Given the description of an element on the screen output the (x, y) to click on. 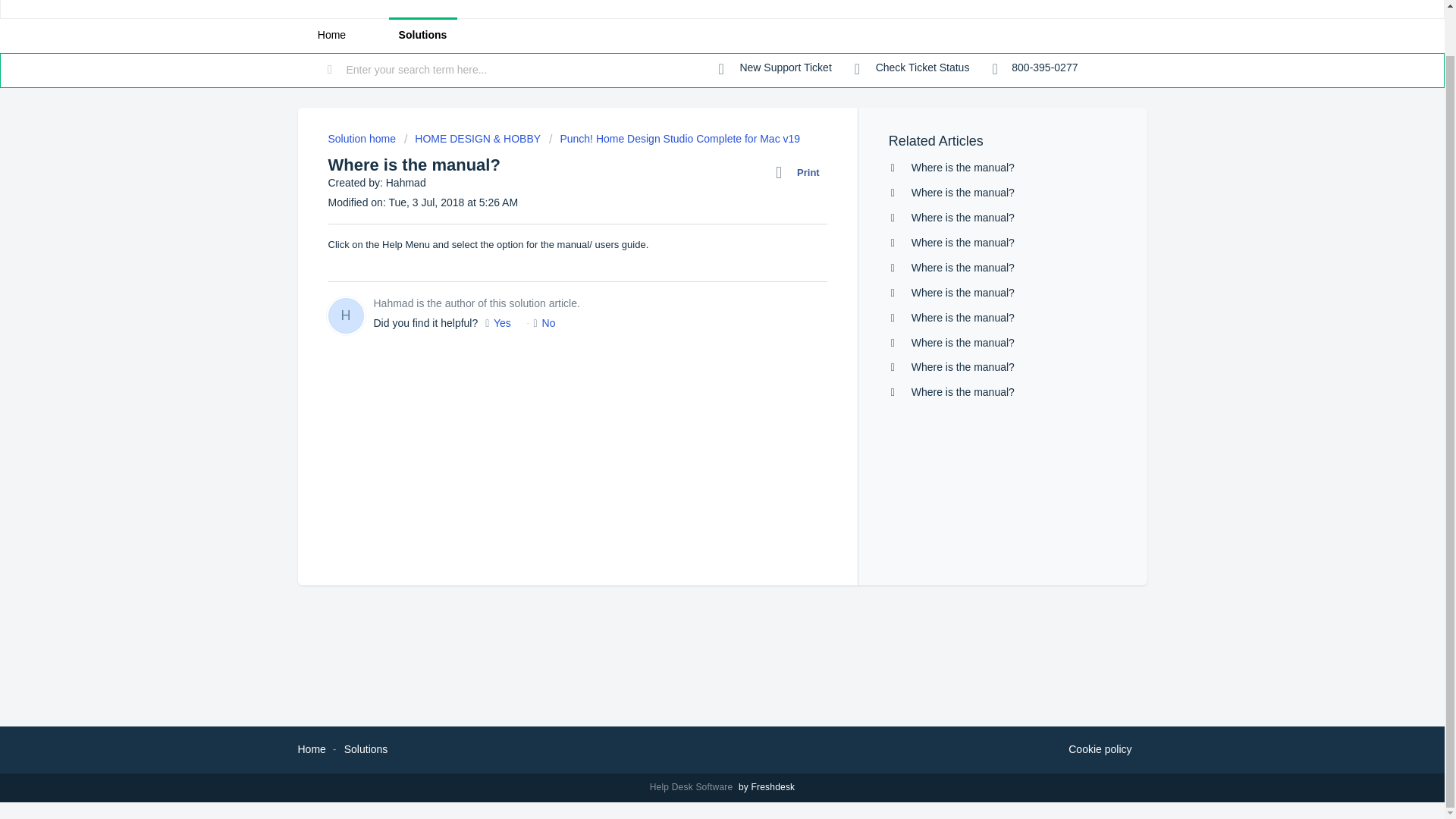
New Support Ticket (775, 68)
New support ticket (775, 68)
Punch! Home Design Studio Complete for Mac v19 (673, 138)
Check Ticket Status (911, 68)
Why we love Cookies (1099, 750)
Where is the manual? (962, 391)
Where is the manual? (962, 242)
Home (310, 748)
Where is the manual? (962, 292)
Where is the manual? (962, 217)
